Given the description of an element on the screen output the (x, y) to click on. 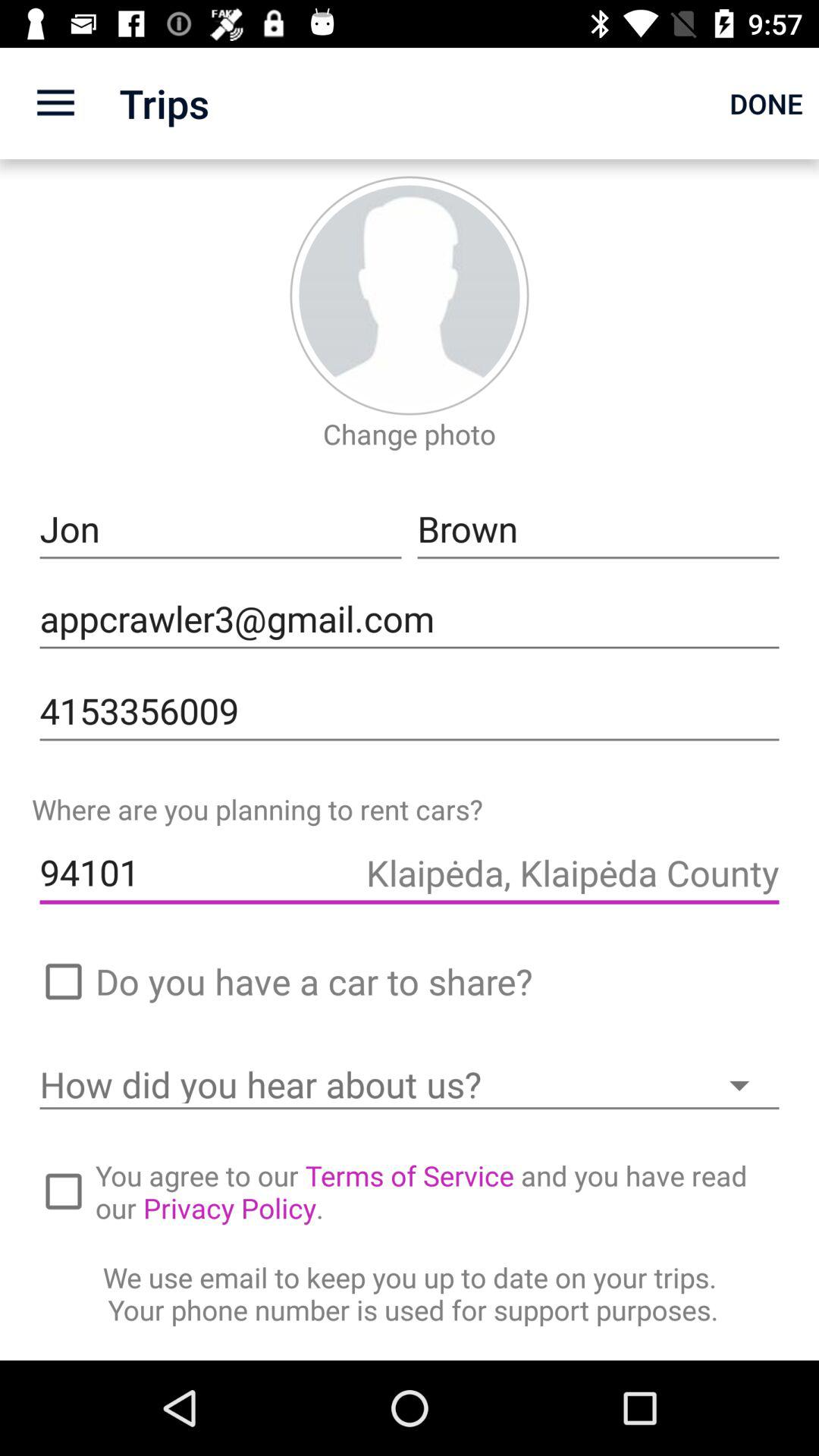
choose the item above jon item (55, 103)
